Given the description of an element on the screen output the (x, y) to click on. 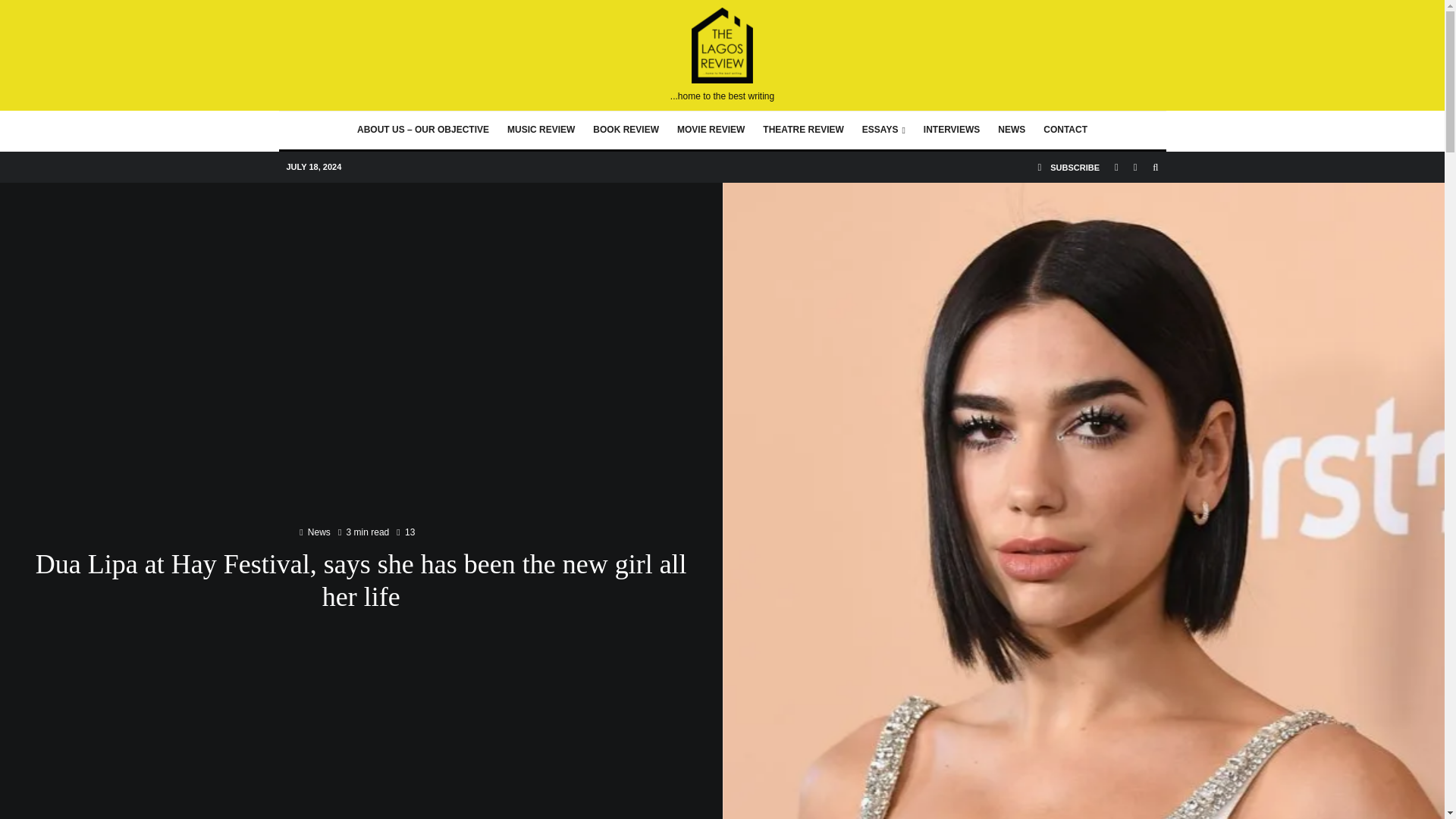
MOVIE REVIEW (711, 130)
MUSIC REVIEW (540, 130)
...home to the best writing (721, 55)
BOOK REVIEW (625, 130)
THEATRE REVIEW (802, 130)
